Given the description of an element on the screen output the (x, y) to click on. 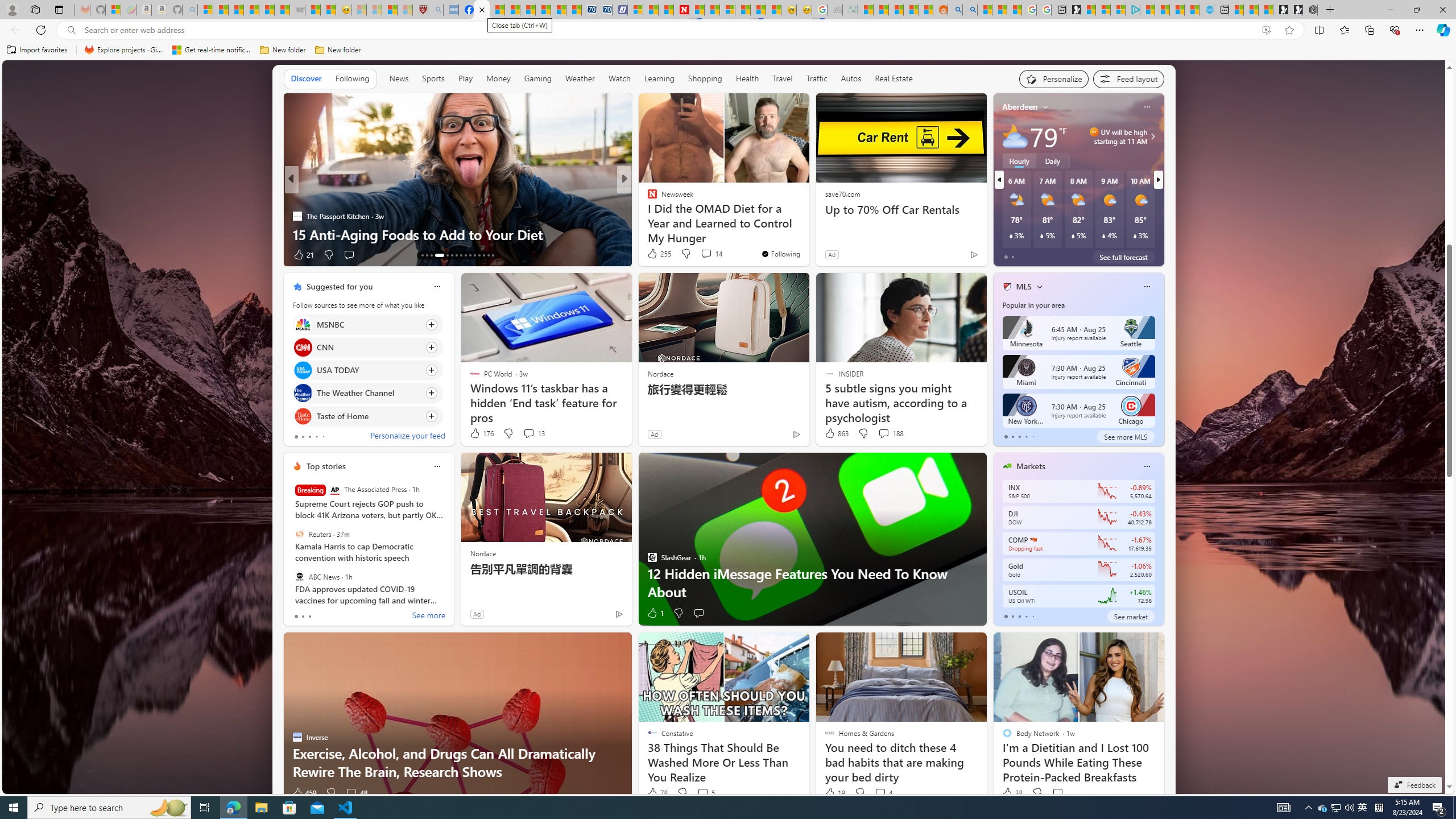
AutomationID: tab-73 (460, 255)
Cheap Car Rentals - Save70.com (588, 9)
Top stories (325, 466)
See full forecast (1123, 256)
Premium Mattresses & Bedding (807, 234)
Body Network (647, 197)
Class: weather-current-precipitation-glyph (1134, 235)
View comments 188 Comment (890, 433)
Click to follow source CNN (367, 347)
